Given the description of an element on the screen output the (x, y) to click on. 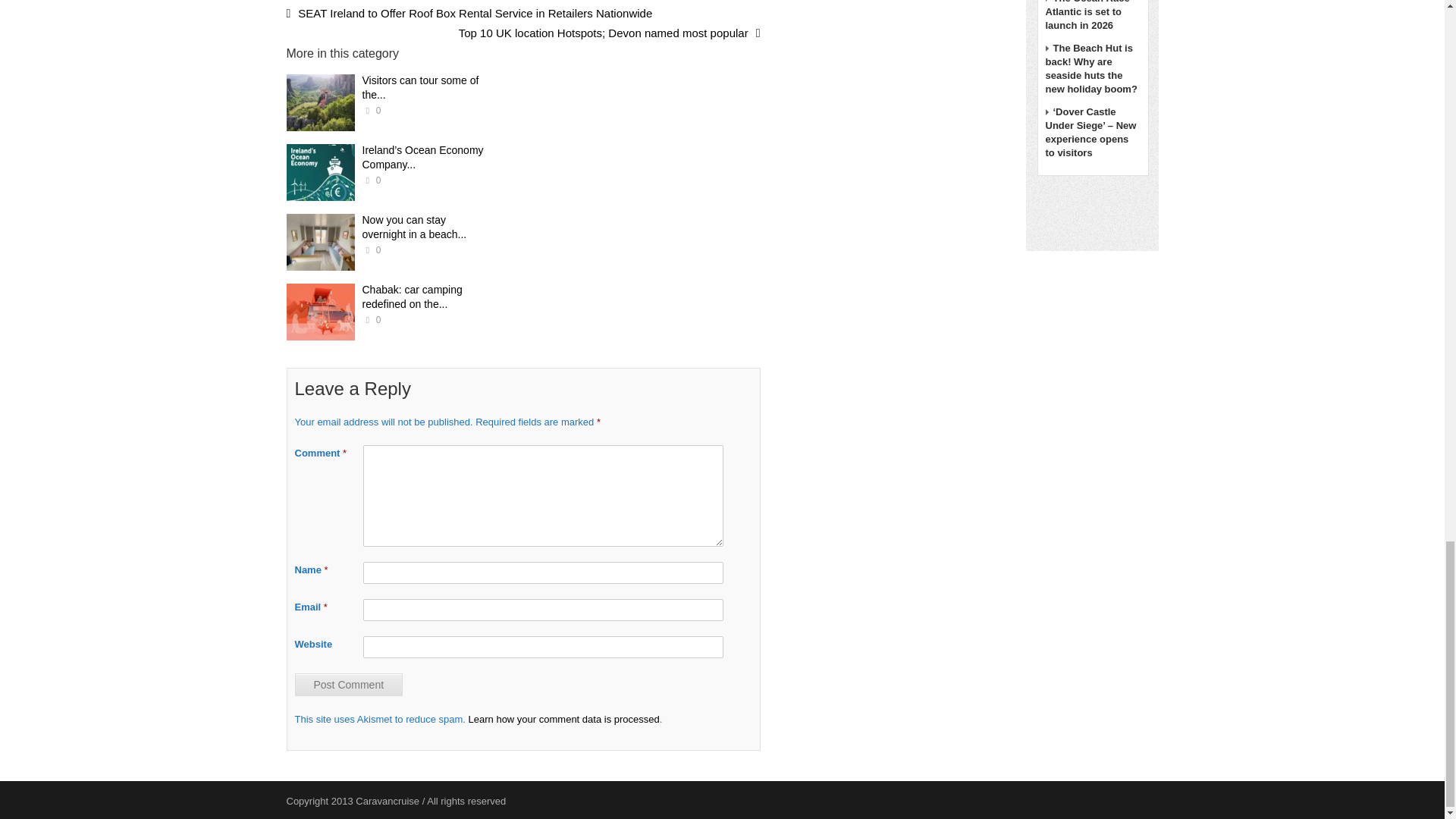
Post Comment (348, 684)
Chabak: car camping redefined on the new Hyundai Santa Fe (320, 311)
